Given the description of an element on the screen output the (x, y) to click on. 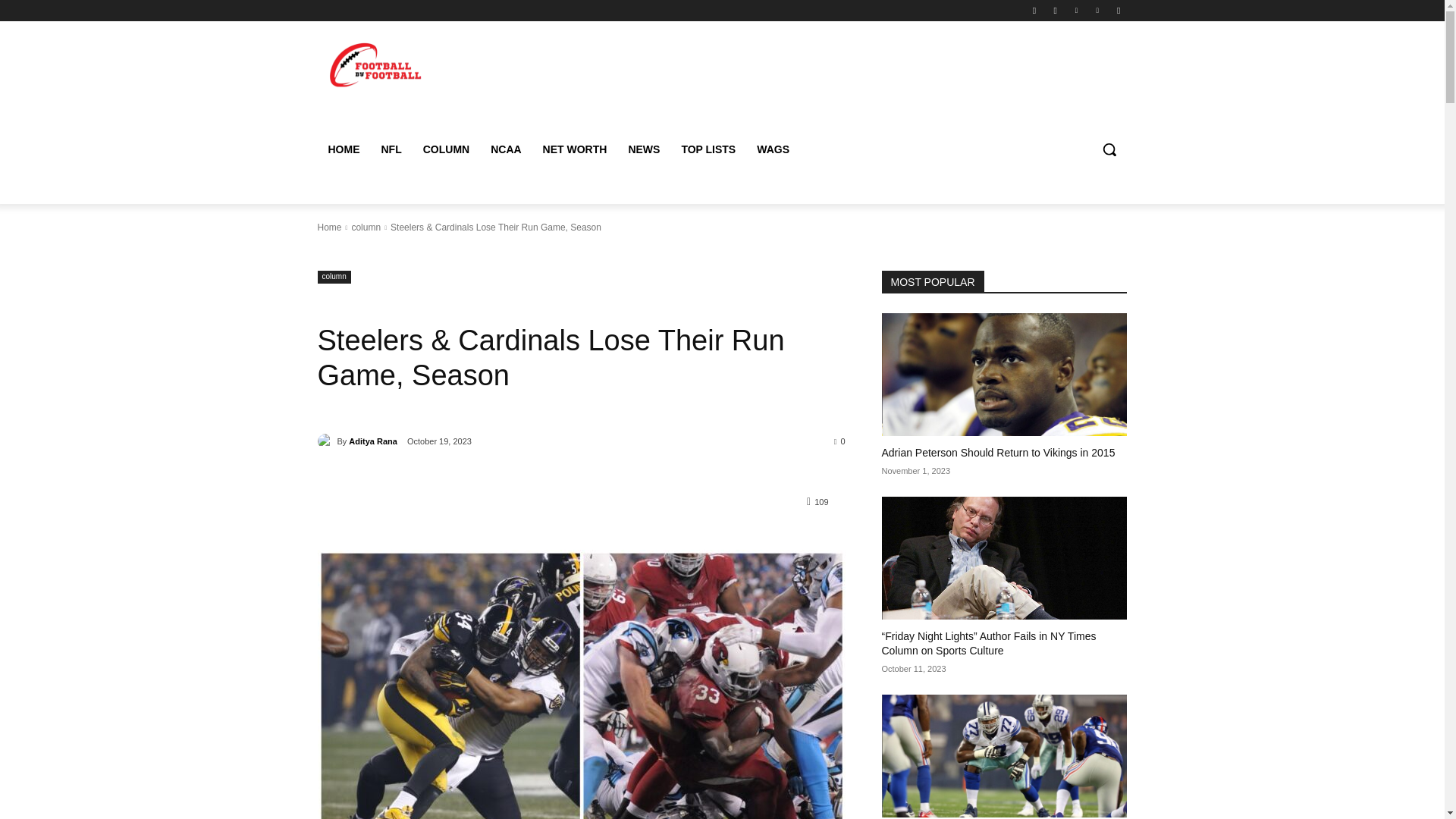
NEWS (643, 149)
Vimeo (1097, 9)
Aditya Rana (326, 441)
NFL (390, 149)
Youtube (1117, 9)
Instagram (1055, 9)
NET WORTH (574, 149)
NCAA (505, 149)
WAGS (772, 149)
Twitter (1075, 9)
Facebook (1034, 9)
0 (839, 440)
Aditya Rana (373, 440)
TOP LISTS (707, 149)
